Given the description of an element on the screen output the (x, y) to click on. 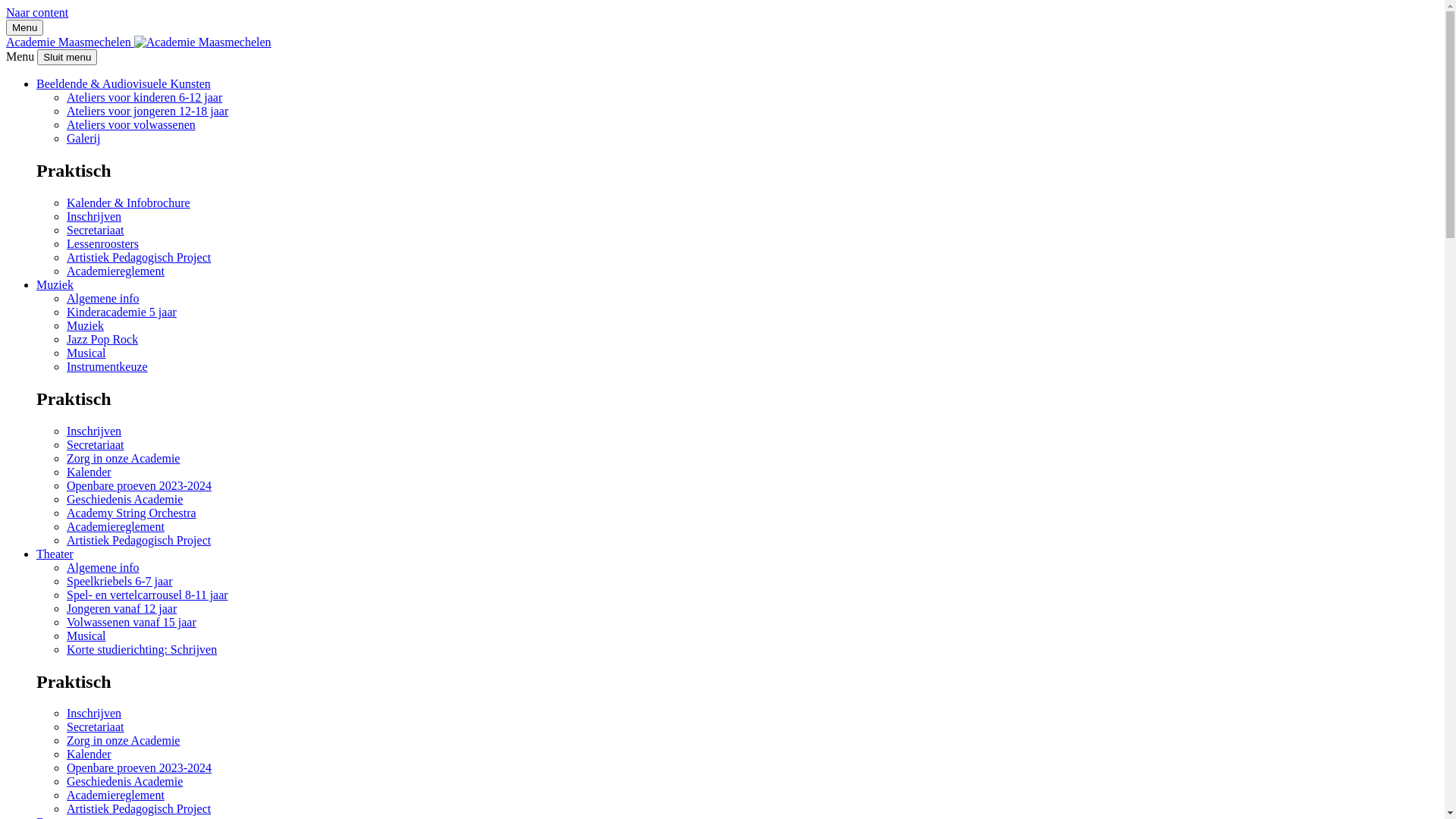
Lessenroosters Element type: text (102, 243)
Muziek Element type: text (84, 325)
Academiereglement Element type: text (115, 270)
Jazz Pop Rock Element type: text (102, 338)
Volwassenen vanaf 15 jaar Element type: text (131, 621)
Ateliers voor volwassenen Element type: text (130, 124)
Musical Element type: text (86, 635)
Inschrijven Element type: text (93, 712)
Ateliers voor kinderen 6-12 jaar Element type: text (144, 97)
Artistiek Pedagogisch Project Element type: text (138, 257)
Spel- en vertelcarrousel 8-11 jaar Element type: text (147, 594)
Kalender Element type: text (88, 753)
Openbare proeven 2023-2024 Element type: text (138, 767)
Algemene info Element type: text (102, 567)
Academy String Orchestra Element type: text (131, 512)
Jongeren vanaf 12 jaar Element type: text (121, 608)
Algemene info Element type: text (102, 297)
Muziek Element type: text (54, 284)
Naar content Element type: text (37, 12)
Academie Maasmechelen Element type: hover (202, 42)
Inschrijven Element type: text (93, 430)
Academiereglement Element type: text (115, 794)
Academie Maasmechelen Element type: text (138, 41)
Menu Element type: text (24, 27)
Musical Element type: text (86, 352)
Secretariaat Element type: text (95, 726)
Ateliers voor jongeren 12-18 jaar Element type: text (147, 110)
Inschrijven Element type: text (93, 216)
Kalender Element type: text (88, 471)
Openbare proeven 2023-2024 Element type: text (138, 485)
Artistiek Pedagogisch Project Element type: text (138, 539)
Kalender & Infobrochure Element type: text (128, 202)
Artistiek Pedagogisch Project Element type: text (138, 808)
Zorg in onze Academie Element type: text (122, 457)
Korte studierichting: Schrijven Element type: text (141, 649)
Beeldende & Audiovisuele Kunsten Element type: text (123, 83)
Geschiedenis Academie Element type: text (124, 781)
Secretariaat Element type: text (95, 229)
Sluit menu Element type: text (67, 57)
Zorg in onze Academie Element type: text (122, 740)
Instrumentkeuze Element type: text (106, 366)
Galerij Element type: text (83, 137)
Secretariaat Element type: text (95, 444)
Speelkriebels 6-7 jaar Element type: text (119, 580)
Kinderacademie 5 jaar Element type: text (121, 311)
Academiereglement Element type: text (115, 526)
Geschiedenis Academie Element type: text (124, 498)
Theater Element type: text (54, 553)
